Given the description of an element on the screen output the (x, y) to click on. 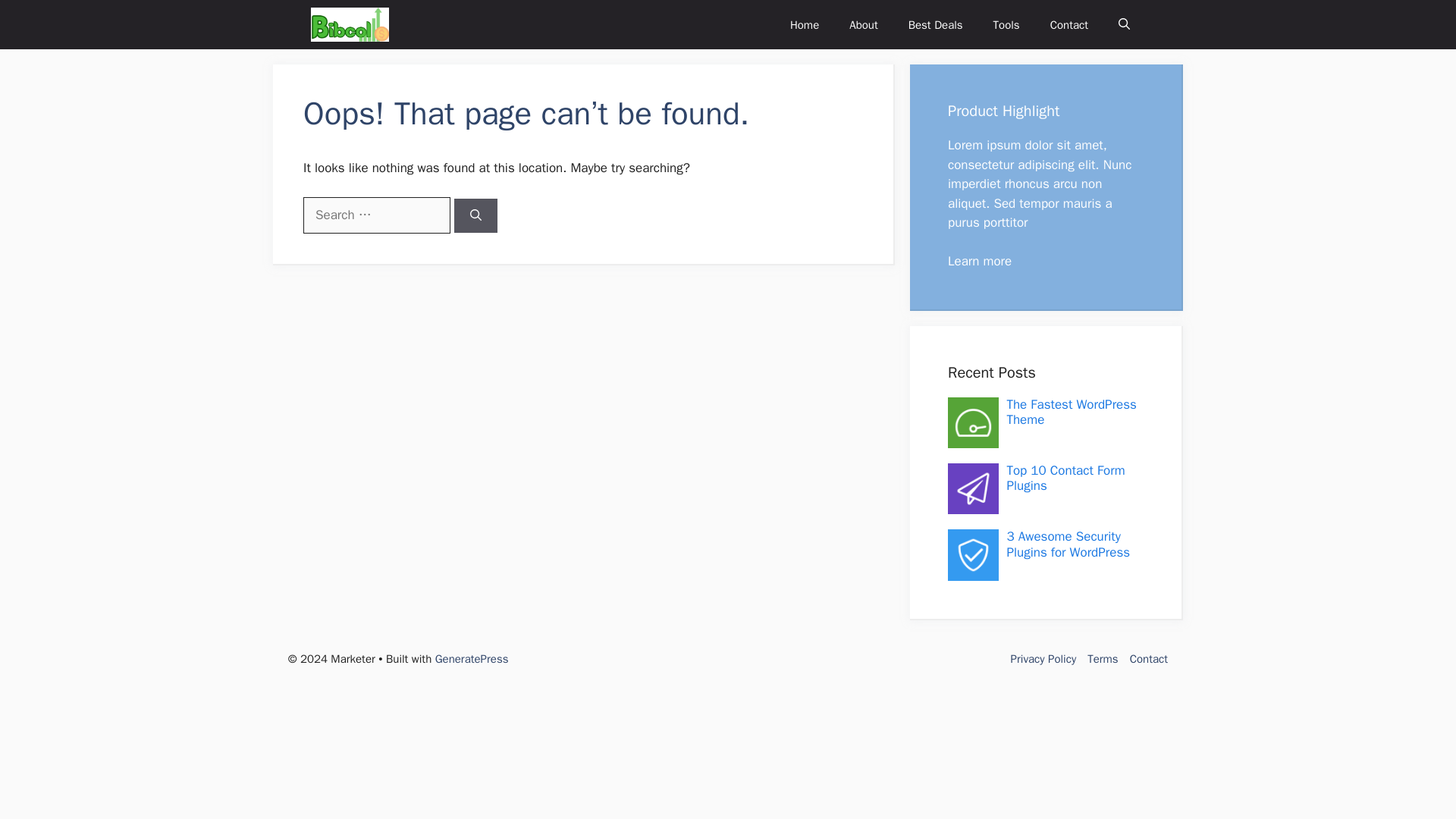
Contact (1069, 23)
Tools (1006, 23)
Top 10 Contact Form Plugins (1065, 477)
Bibcol (349, 24)
Best Deals (935, 23)
Home (804, 23)
About (863, 23)
The Fastest WordPress Theme (1070, 410)
Search for: (375, 215)
GeneratePress (471, 658)
3 Awesome Security Plugins for WordPress (1067, 543)
